Given the description of an element on the screen output the (x, y) to click on. 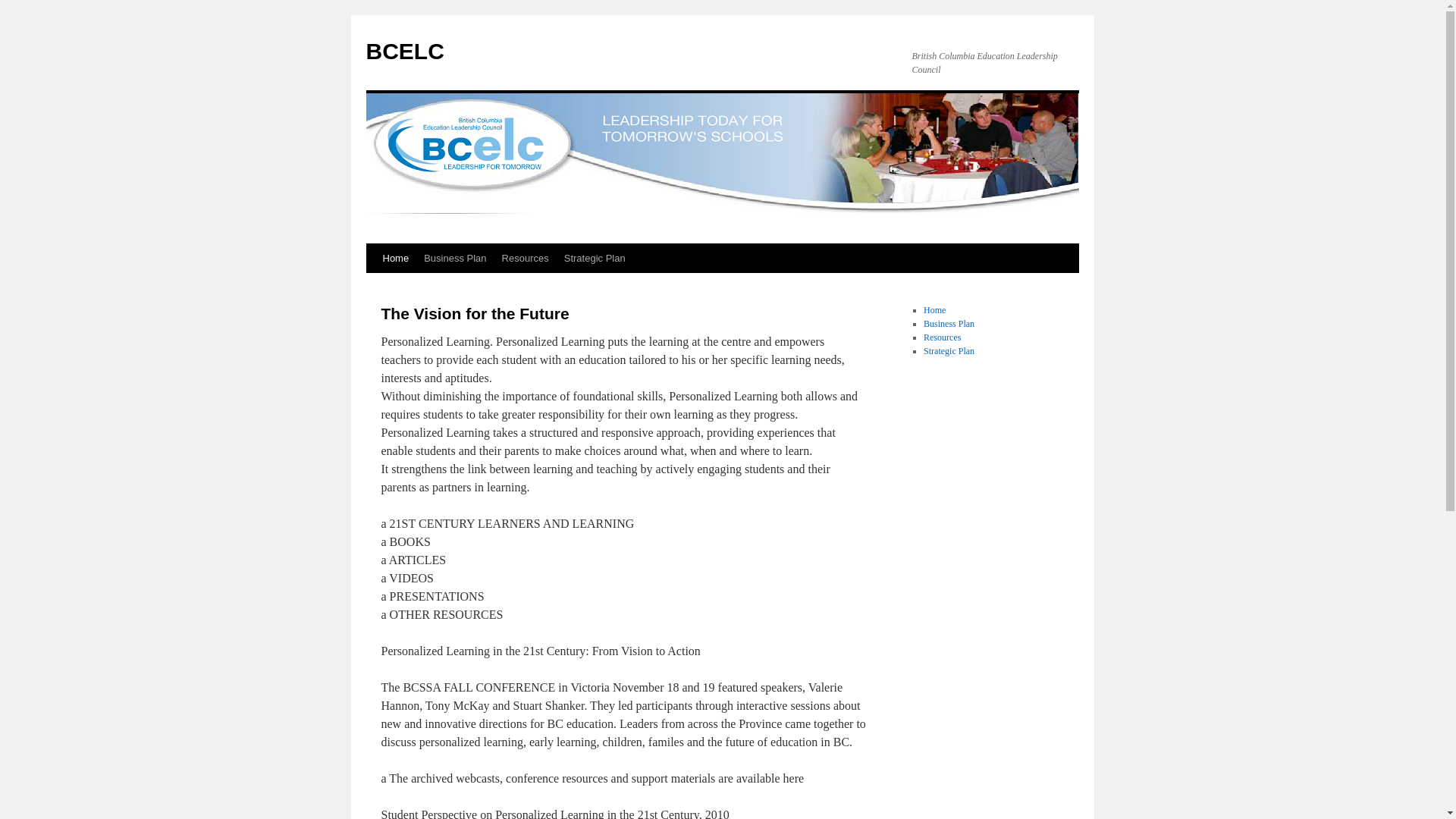
Resources Element type: text (525, 258)
Strategic Plan Element type: text (594, 258)
Business Plan Element type: text (948, 323)
Business Plan Element type: text (454, 258)
Home Element type: text (395, 258)
Home Element type: text (934, 309)
Resources Element type: text (941, 337)
BCELC Element type: text (404, 50)
Strategic Plan Element type: text (948, 350)
